Given the description of an element on the screen output the (x, y) to click on. 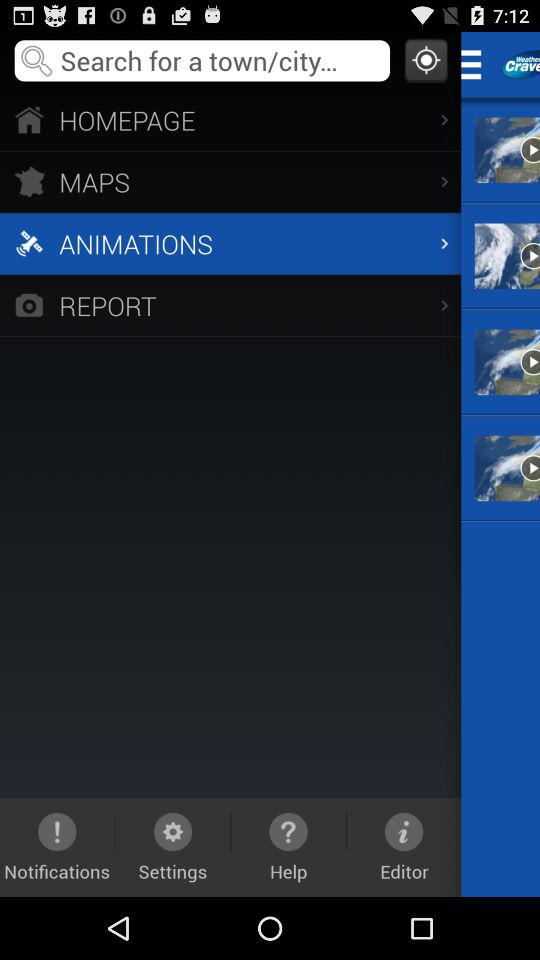
flip to notifications item (57, 847)
